Given the description of an element on the screen output the (x, y) to click on. 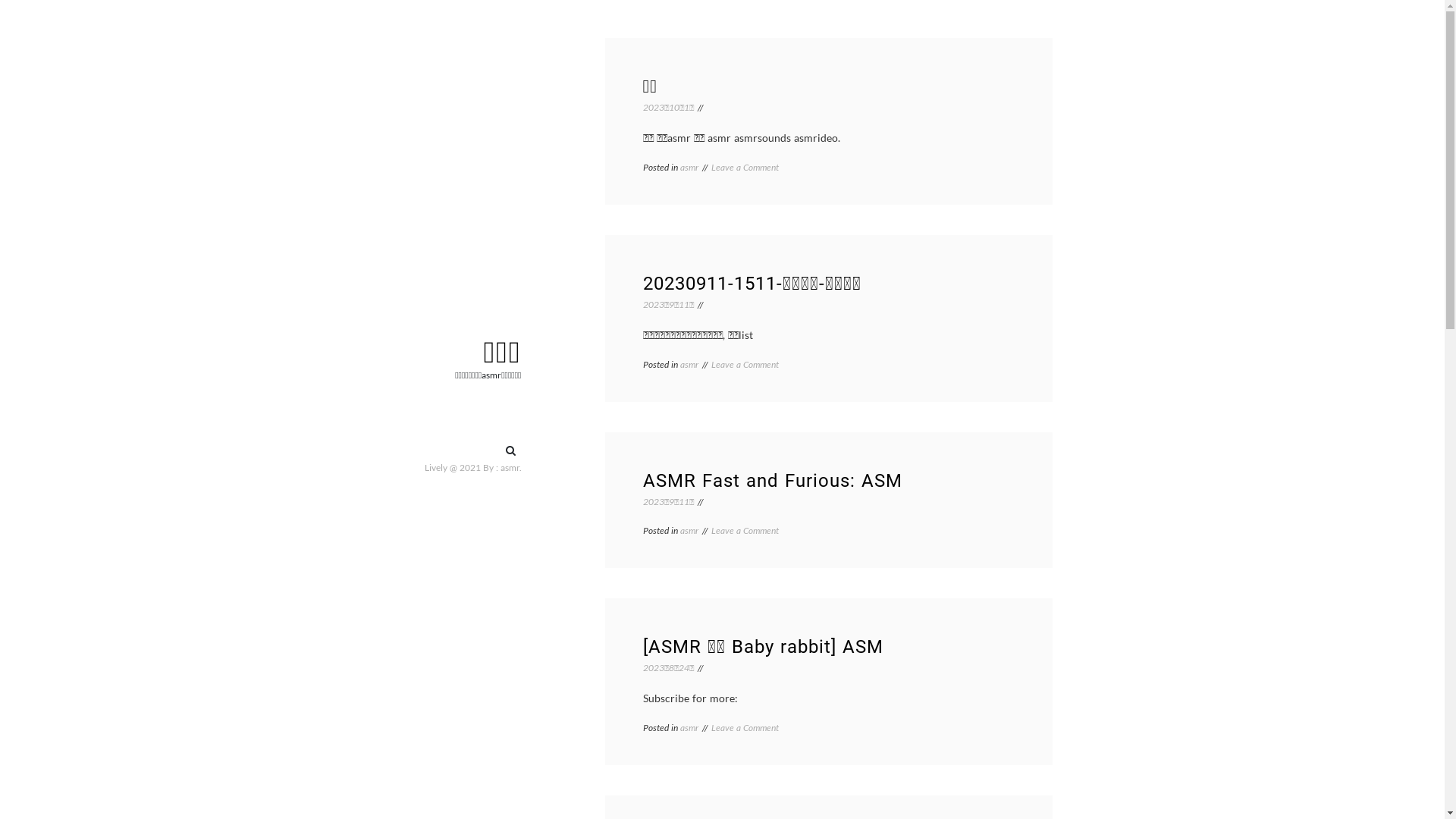
Leave a Comment
on ASMR Fast and Furious: ASM Element type: text (744, 530)
asmr Element type: text (688, 530)
ASMR Fast and Furious: ASM Element type: text (772, 480)
asmr Element type: text (509, 466)
asmr Element type: text (688, 727)
asmr Element type: text (688, 166)
asmr Element type: text (688, 364)
